Given the description of an element on the screen output the (x, y) to click on. 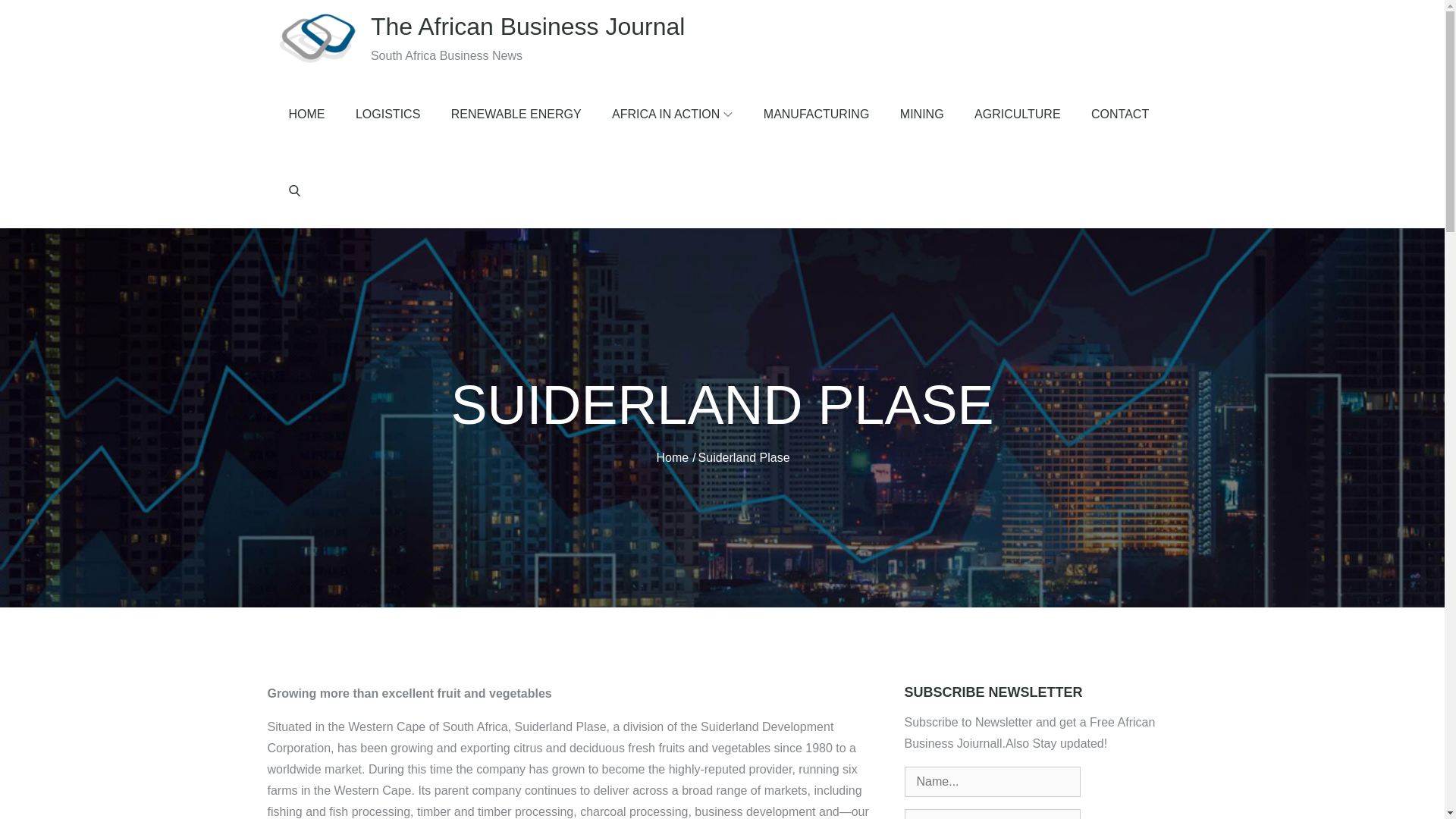
CONTACT (1119, 114)
MINING (922, 114)
The African Business Journal (527, 26)
AFRICA IN ACTION (671, 114)
AGRICULTURE (1017, 114)
RENEWABLE ENERGY (516, 114)
LOGISTICS (387, 114)
Home (672, 457)
MANUFACTURING (816, 114)
